Given the description of an element on the screen output the (x, y) to click on. 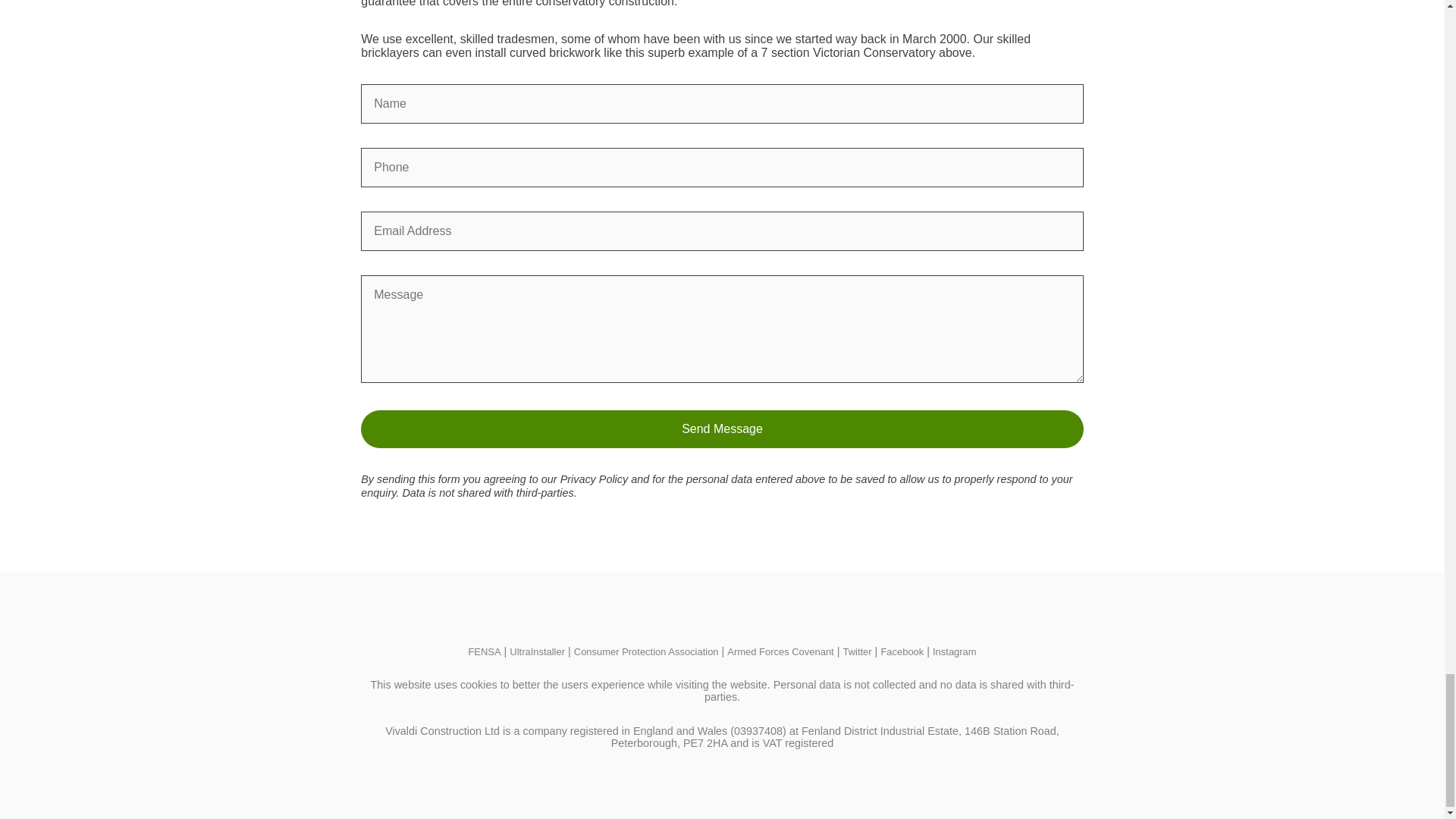
message (722, 329)
name (722, 103)
phone (722, 167)
Send Message (722, 428)
email (722, 230)
